Given the description of an element on the screen output the (x, y) to click on. 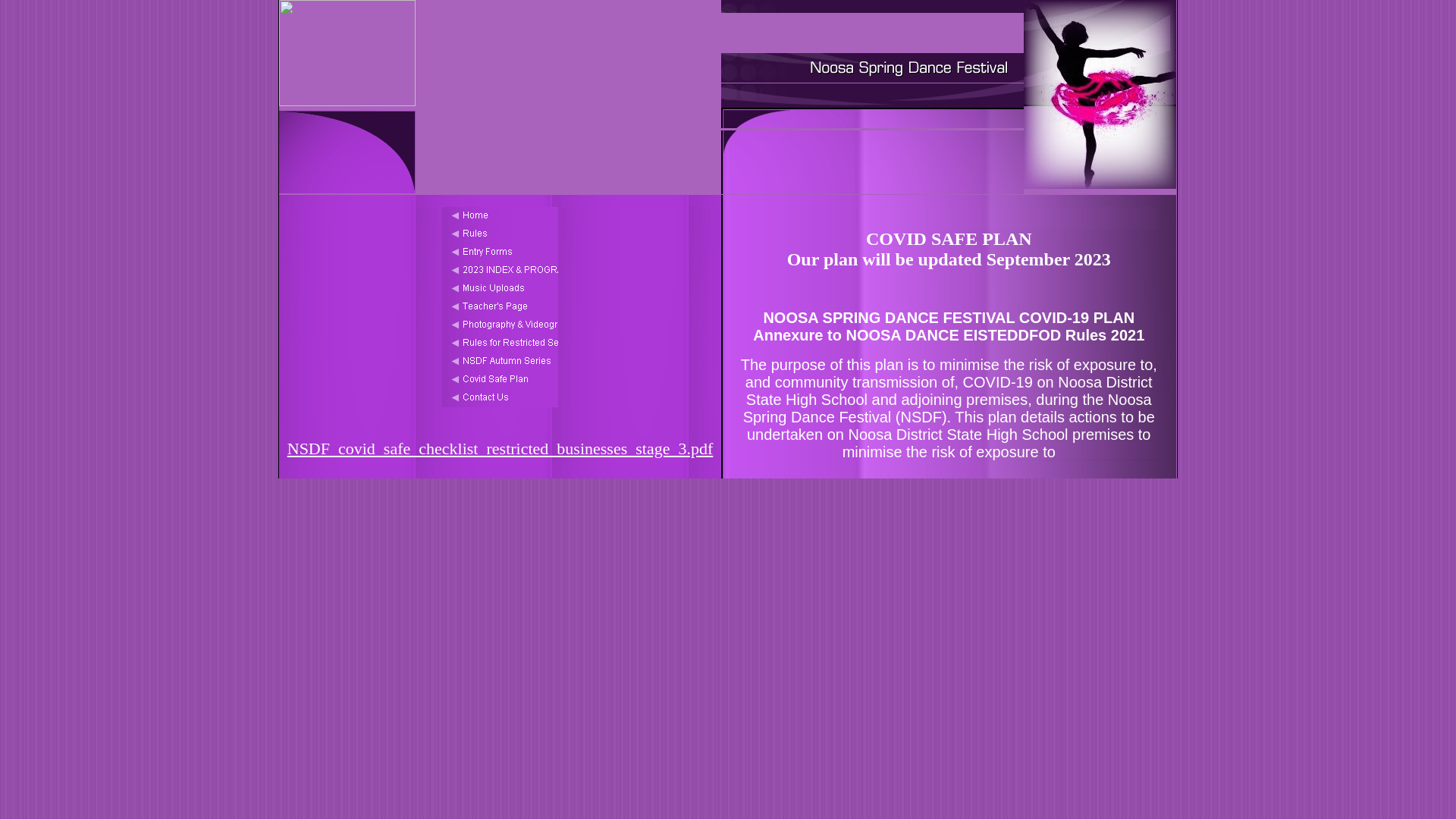
Music Uploads Element type: hover (500, 288)
Rules Element type: hover (500, 234)
Entry Forms Element type: hover (500, 252)
2023 INDEX & PROGRAMME Element type: hover (500, 270)
Teacher\'s Page Element type: hover (500, 307)
NOOSA DANCE EISTEDDFOD Element type: hover (872, 32)
Covid Safe Plan Element type: hover (500, 379)
NSDF Autumn Series Element type: hover (500, 361)
Noosa Spring Dance Festival Element type: hover (872, 67)
Photography & Videography Element type: hover (500, 325)
Home Element type: hover (500, 216)
NSDF_covid_safe_checklist_restricted_businesses_stage_3.pdf Element type: text (500, 448)
Contact Us Element type: hover (500, 398)
Rules for Restricted Sections Element type: hover (500, 343)
